Given the description of an element on the screen output the (x, y) to click on. 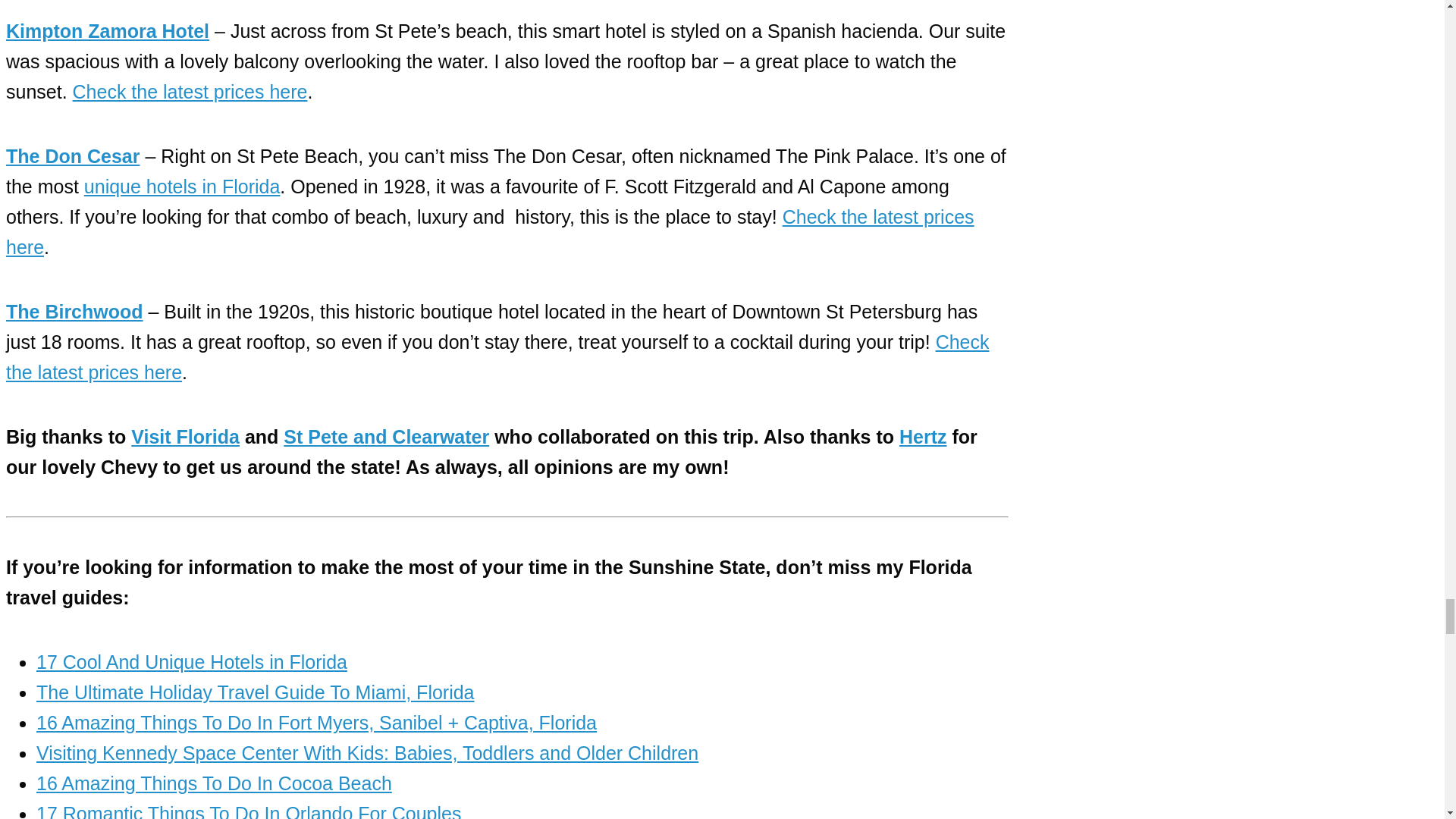
The Birchwood (73, 311)
The Don Cesar (72, 156)
Visit Florida (185, 436)
17 Cool And Unique Hotels in Florida (191, 661)
The Ultimate Holiday Travel Guide To Miami, Florida (255, 691)
Check the latest prices here (189, 91)
unique hotels in Florida (182, 186)
Check the latest prices here (489, 231)
Kimpton Zamora Hotel (107, 30)
St Pete and Clearwater (386, 436)
